Given the description of an element on the screen output the (x, y) to click on. 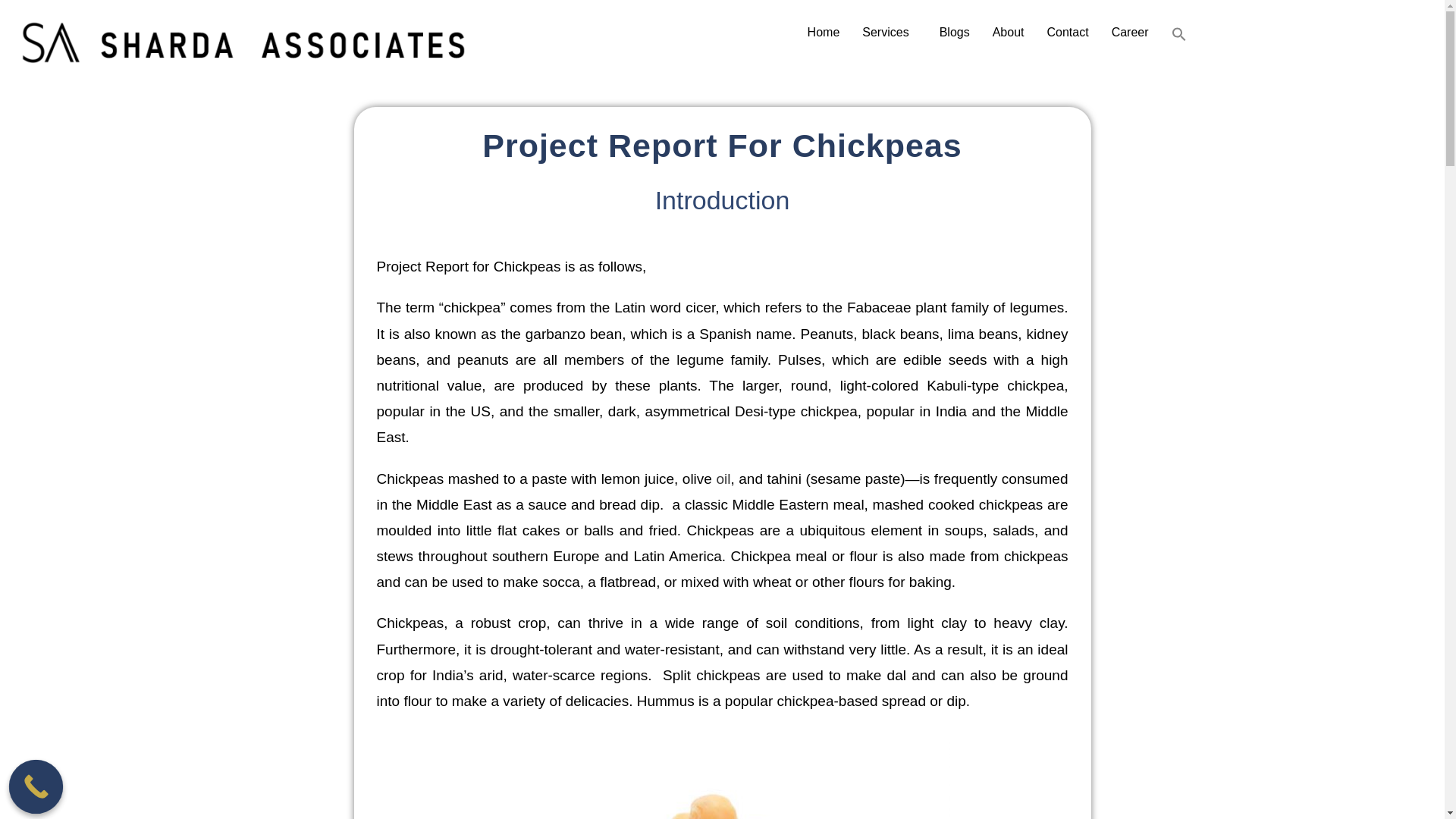
Home (823, 32)
Services (888, 32)
Blogs (954, 32)
Project Report For Chickpeas (722, 774)
